Given the description of an element on the screen output the (x, y) to click on. 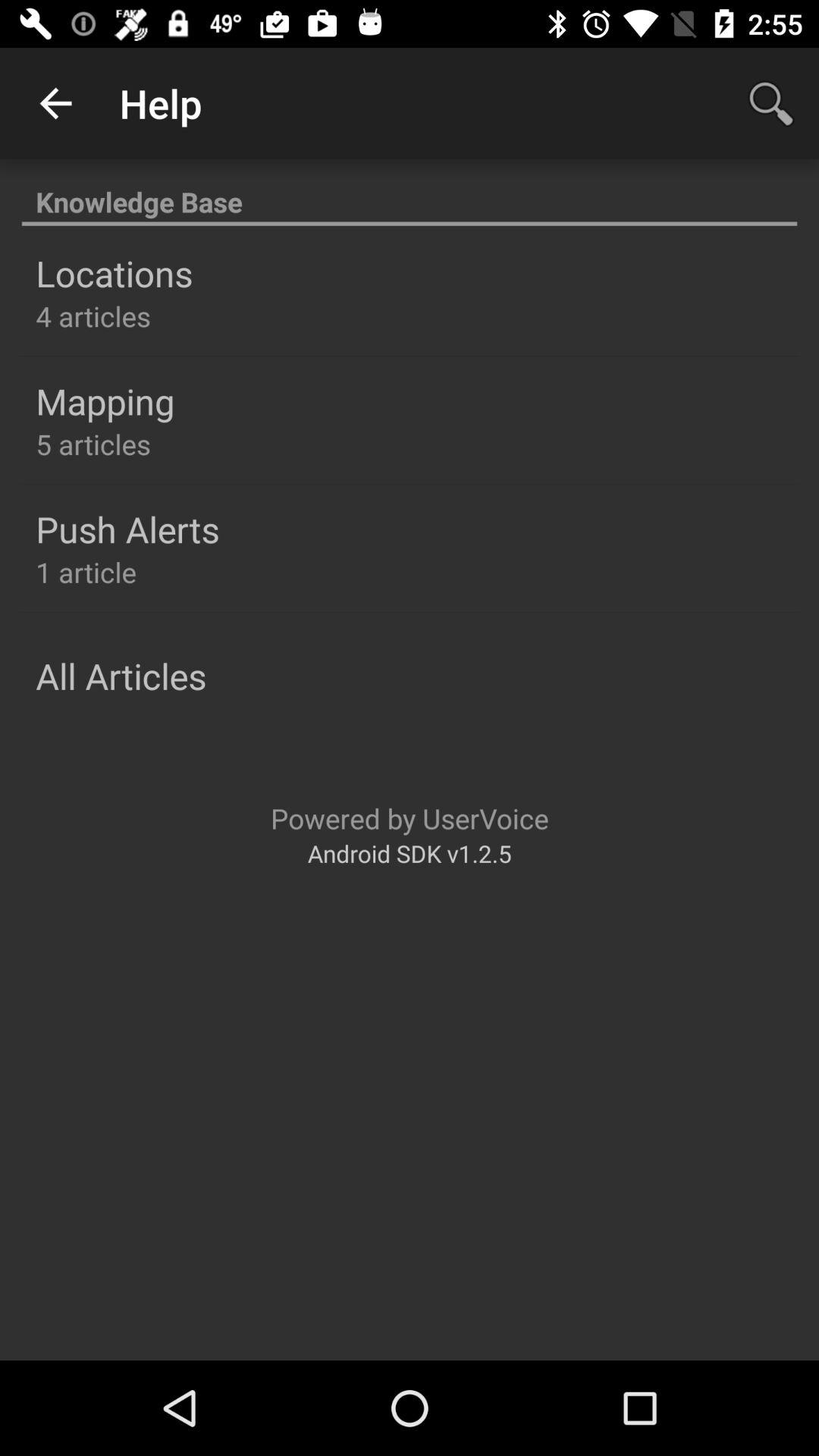
turn on the 1 article item (85, 571)
